Given the description of an element on the screen output the (x, y) to click on. 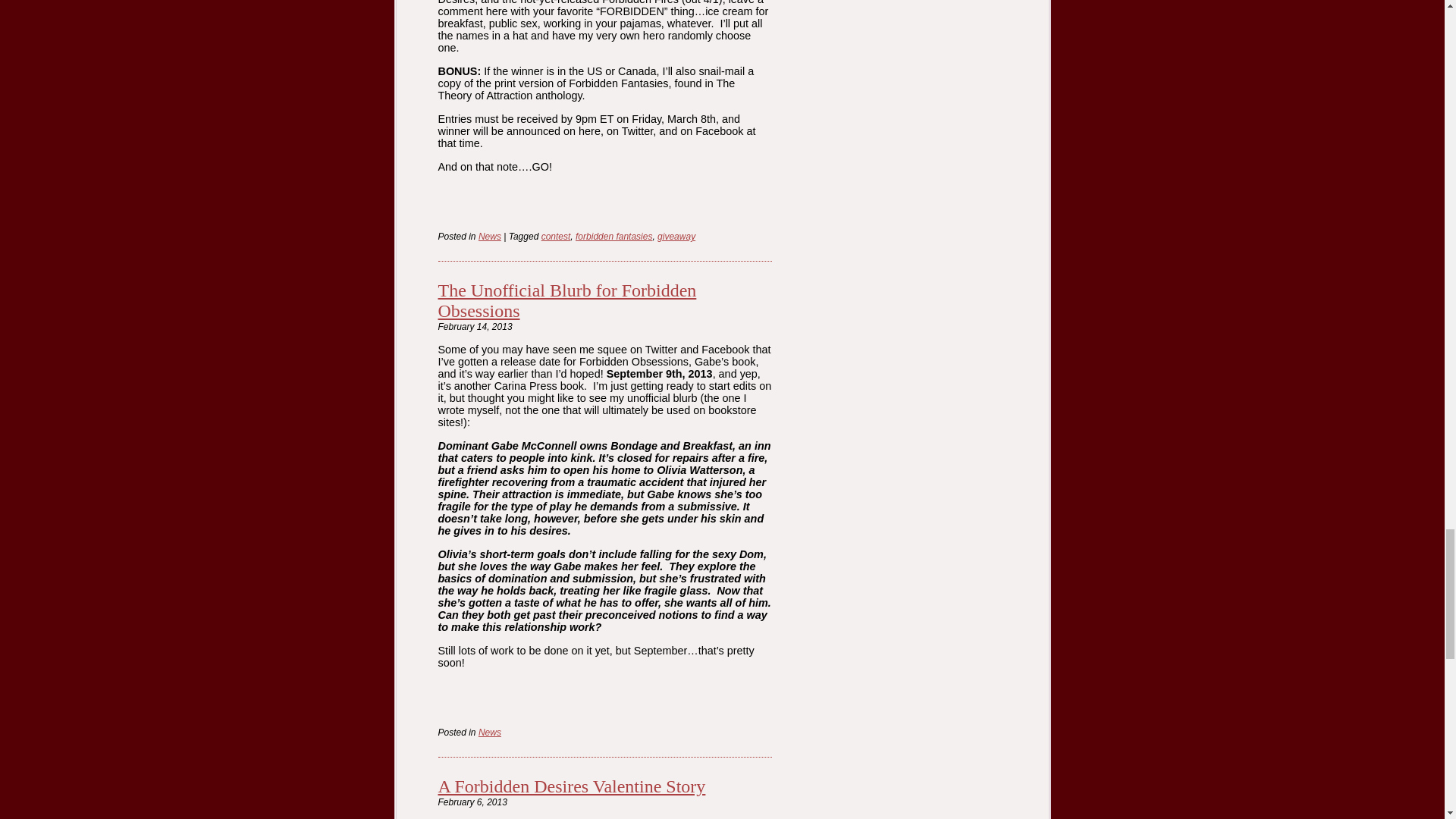
Permalink to The Unofficial Blurb for Forbidden Obsessions (567, 300)
News (489, 235)
contest (555, 235)
giveaway (676, 235)
forbidden fantasies (613, 235)
Permalink to A Forbidden Desires Valentine Story (572, 786)
